Given the description of an element on the screen output the (x, y) to click on. 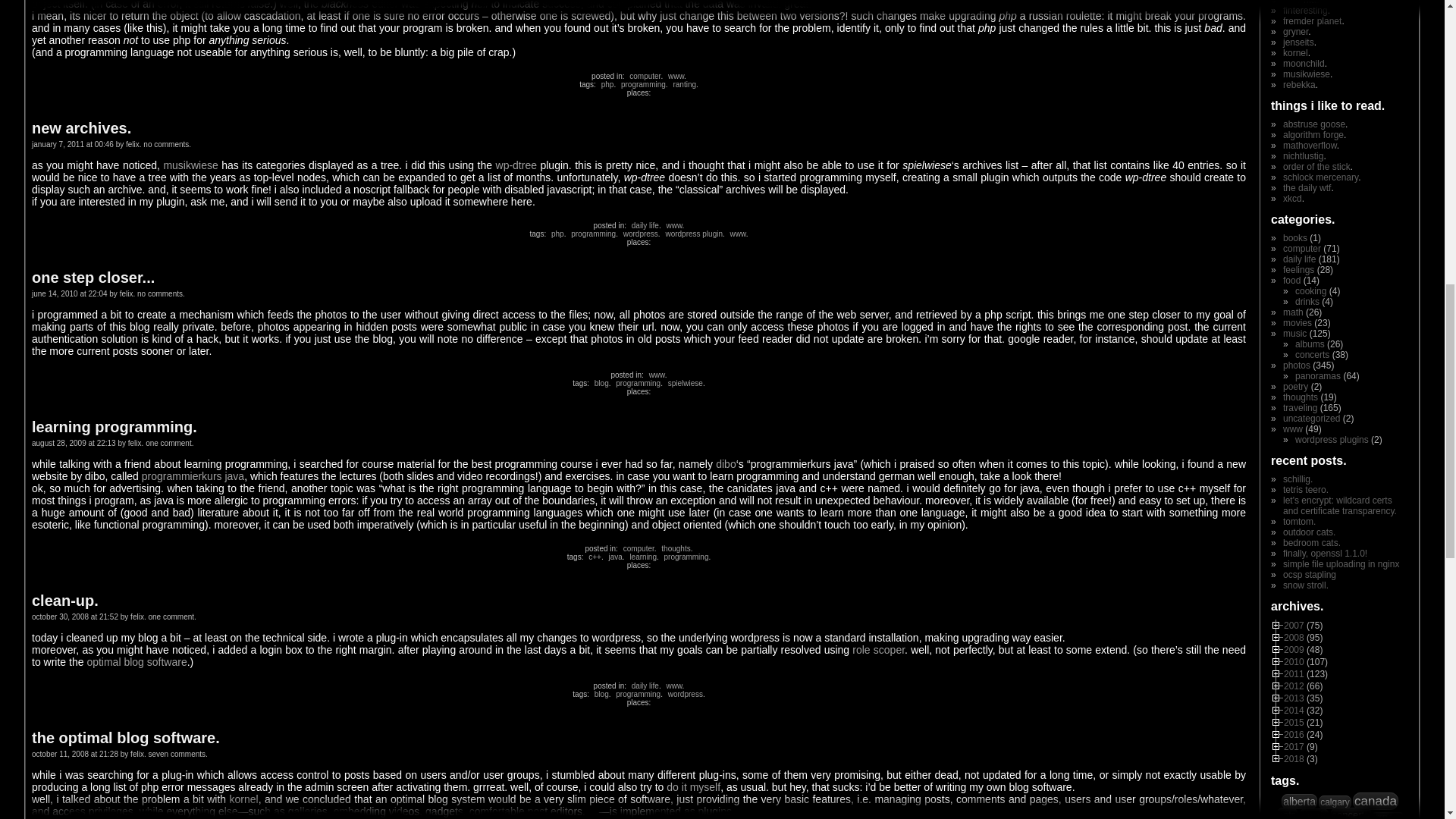
php (606, 84)
ranting (682, 84)
programming (636, 383)
musikwiese (189, 164)
blog (599, 383)
wordpress (639, 234)
programming (641, 84)
one step closer... (93, 277)
wp-dtree (516, 164)
daily life (643, 225)
